Given the description of an element on the screen output the (x, y) to click on. 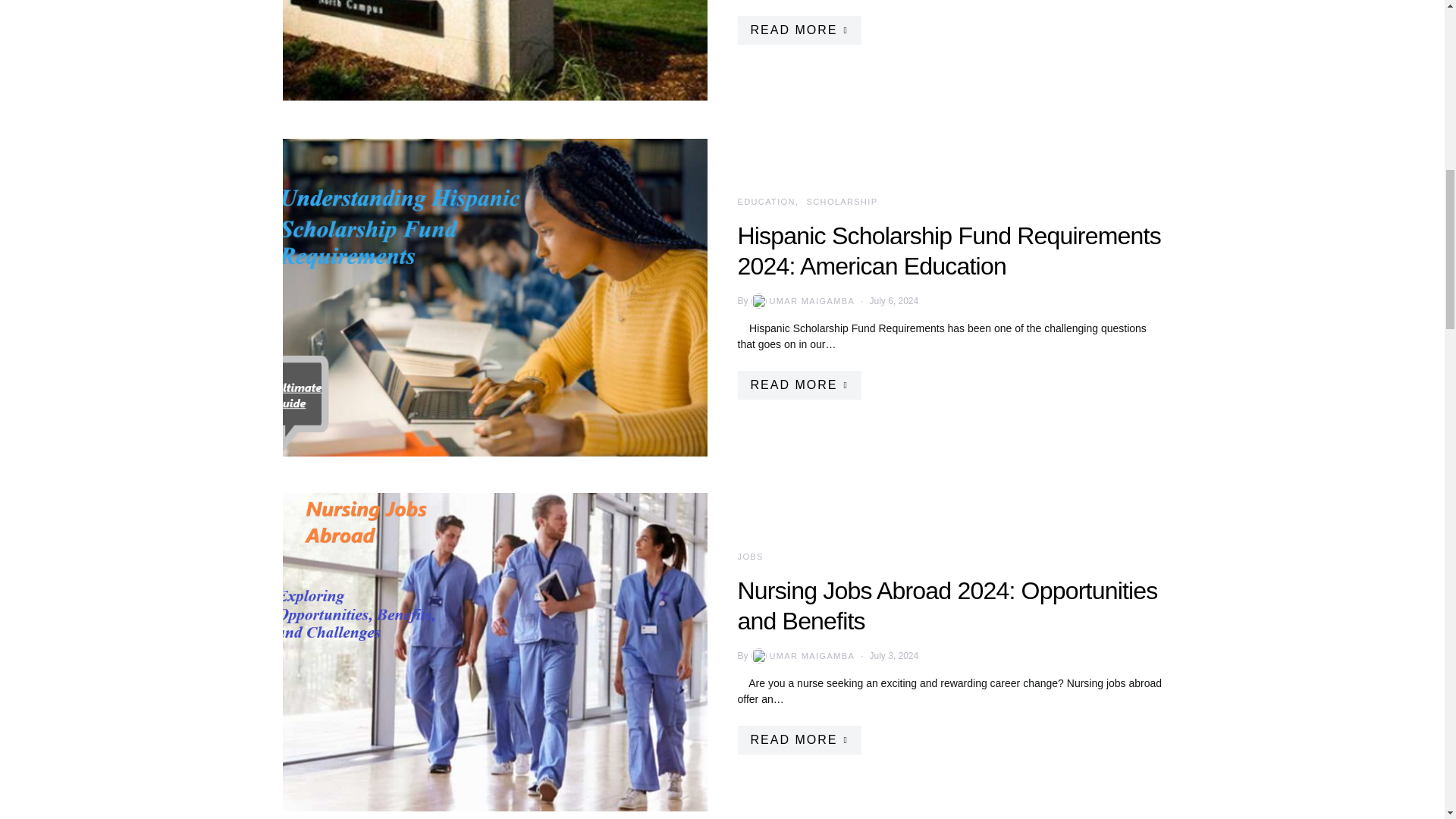
Nursing Jobs Abroad 2024: Opportunities and Benefits (946, 605)
View all posts by Umar Maigamba (802, 655)
READ MORE (798, 30)
EDUCATION (765, 201)
View all posts by Umar Maigamba (802, 300)
UMAR MAIGAMBA (802, 655)
READ MORE (798, 739)
READ MORE (798, 385)
UMAR MAIGAMBA (802, 300)
SCHOLARSHIP (841, 201)
JOBS (749, 556)
